Given the description of an element on the screen output the (x, y) to click on. 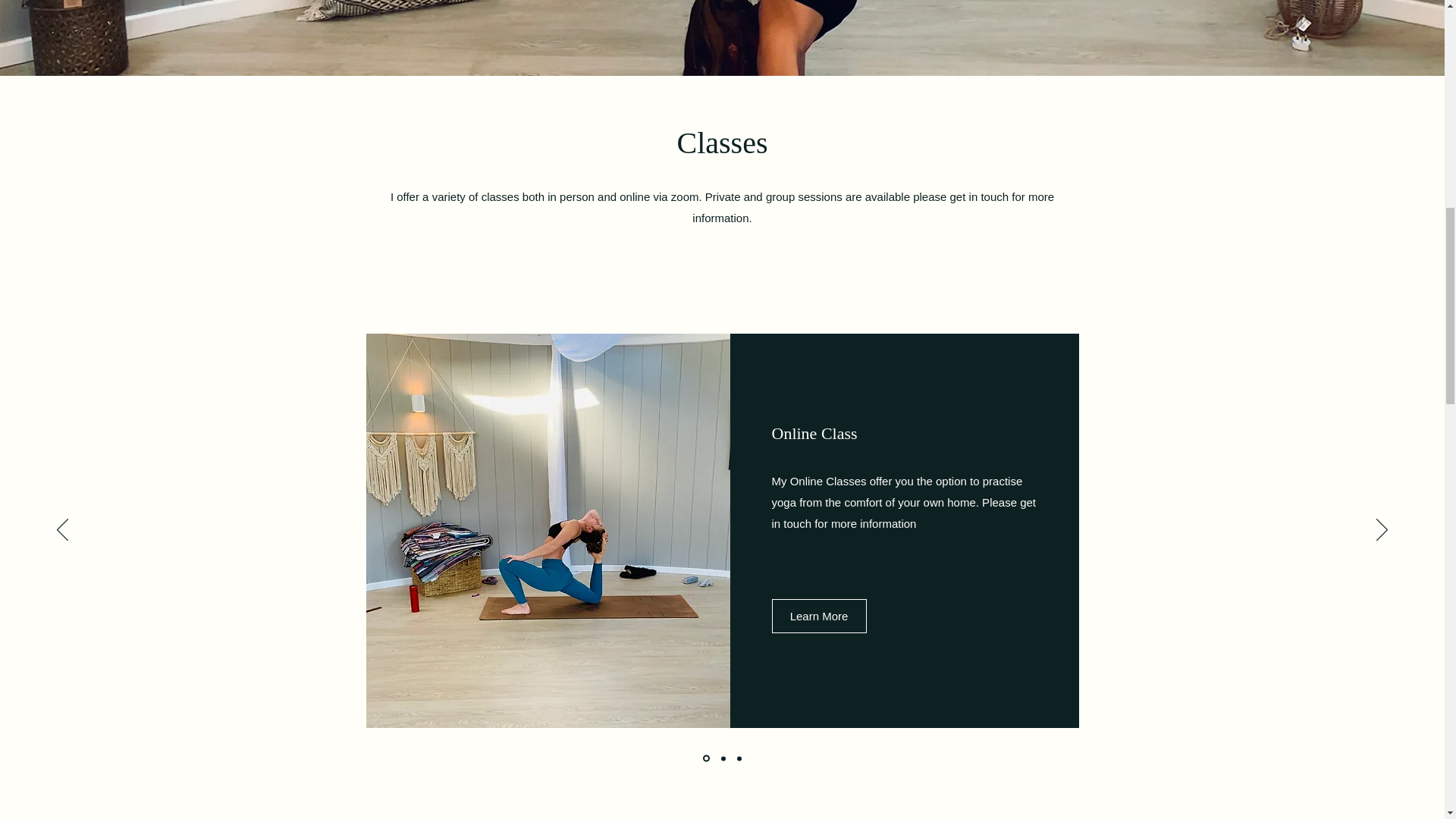
Learn More (818, 615)
